Given the description of an element on the screen output the (x, y) to click on. 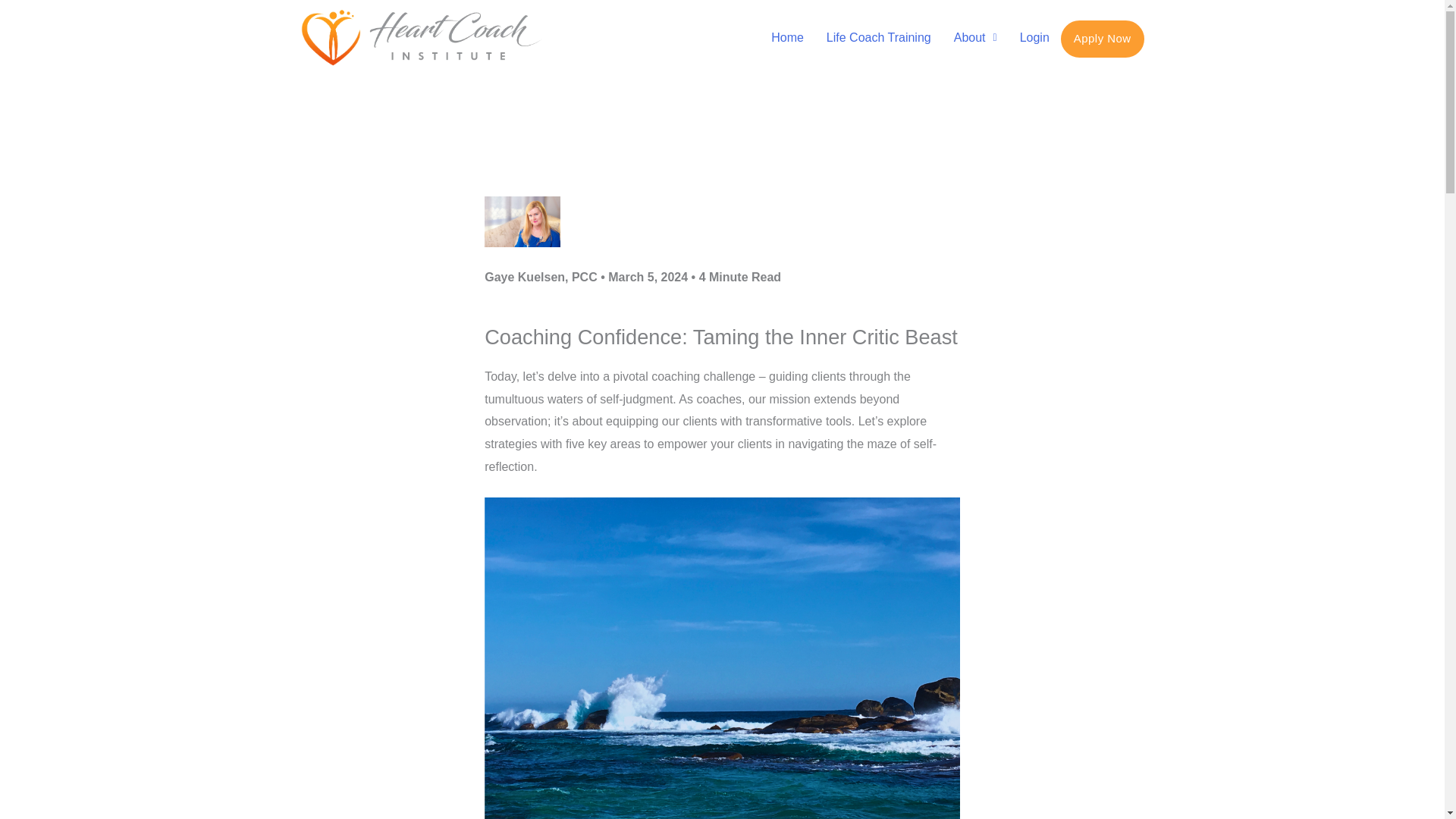
Home (787, 37)
Life Coach Training (878, 37)
Login (1035, 37)
About (975, 37)
Apply Now (1102, 38)
